Given the description of an element on the screen output the (x, y) to click on. 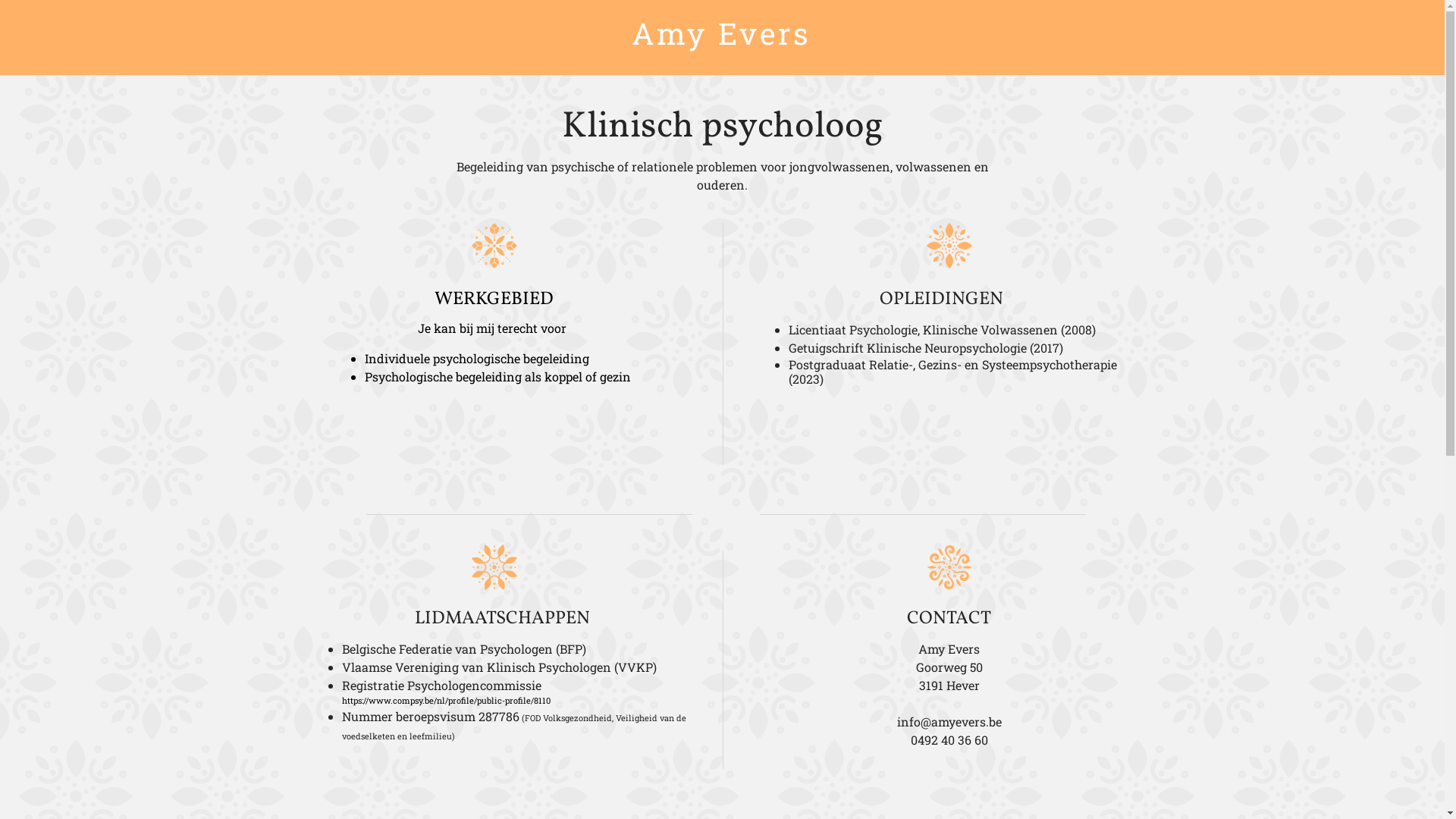
WERKGEBIED Element type: text (492, 299)
https://www.compsy.be/nl/profile/public-profile/8110 Element type: text (446, 700)
